Given the description of an element on the screen output the (x, y) to click on. 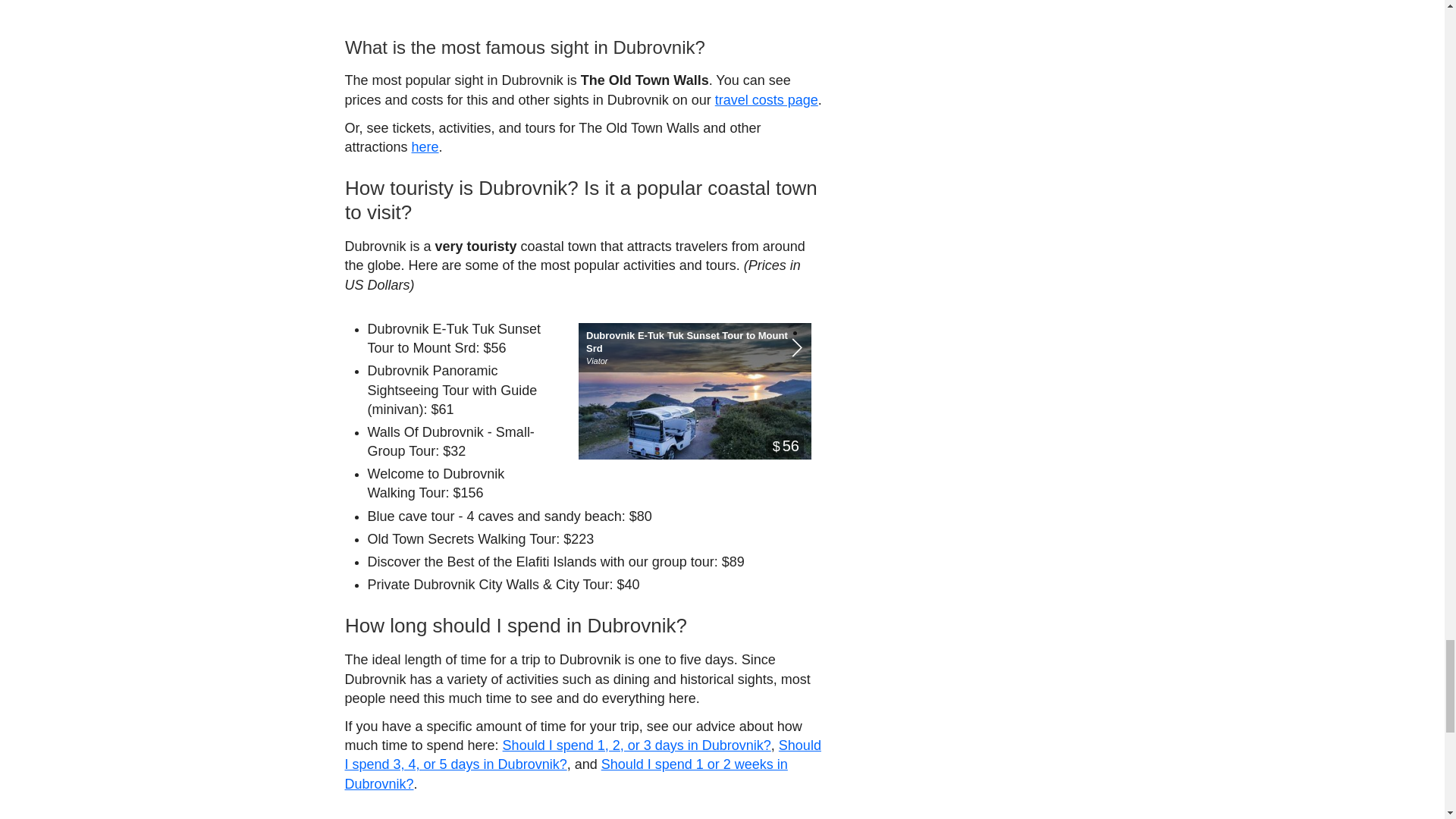
Should I spend 3, 4, or 5 days in Dubrovnik? (582, 50)
Subscribe (395, 465)
Should I spend 1, 2, or 3 days in Dubrovnik? (636, 41)
Should I spend 1 or 2 weeks in Dubrovnik? (565, 69)
Subscribe (395, 465)
